Given the description of an element on the screen output the (x, y) to click on. 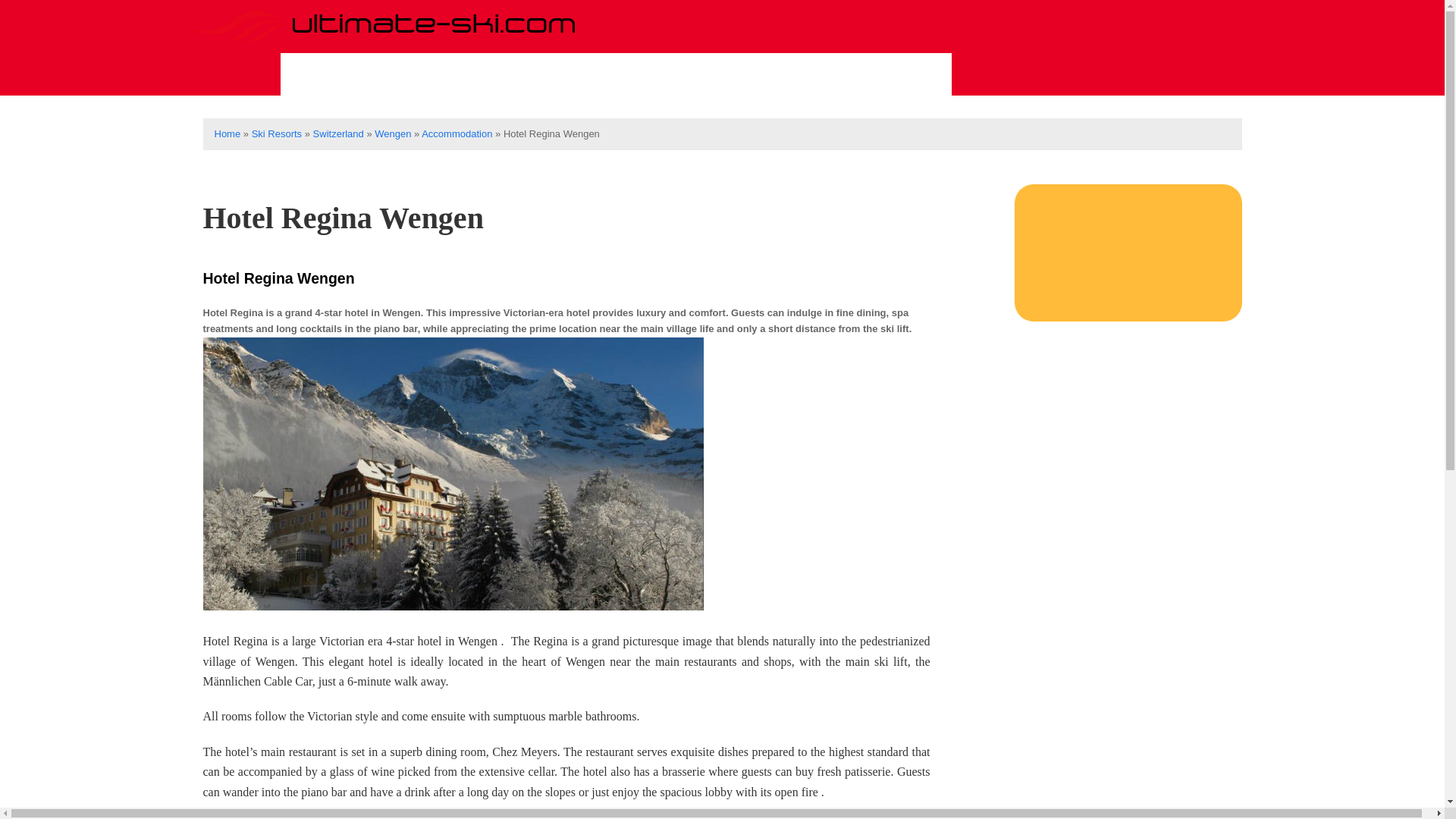
Ski Resorts (351, 74)
Switzerland (338, 133)
Accommodation (867, 74)
Features (729, 74)
Accommodation (457, 133)
Ski Rental (615, 74)
Home (227, 133)
Ski Resorts (276, 133)
Ski Lessons (489, 74)
Wengen (392, 133)
